Given the description of an element on the screen output the (x, y) to click on. 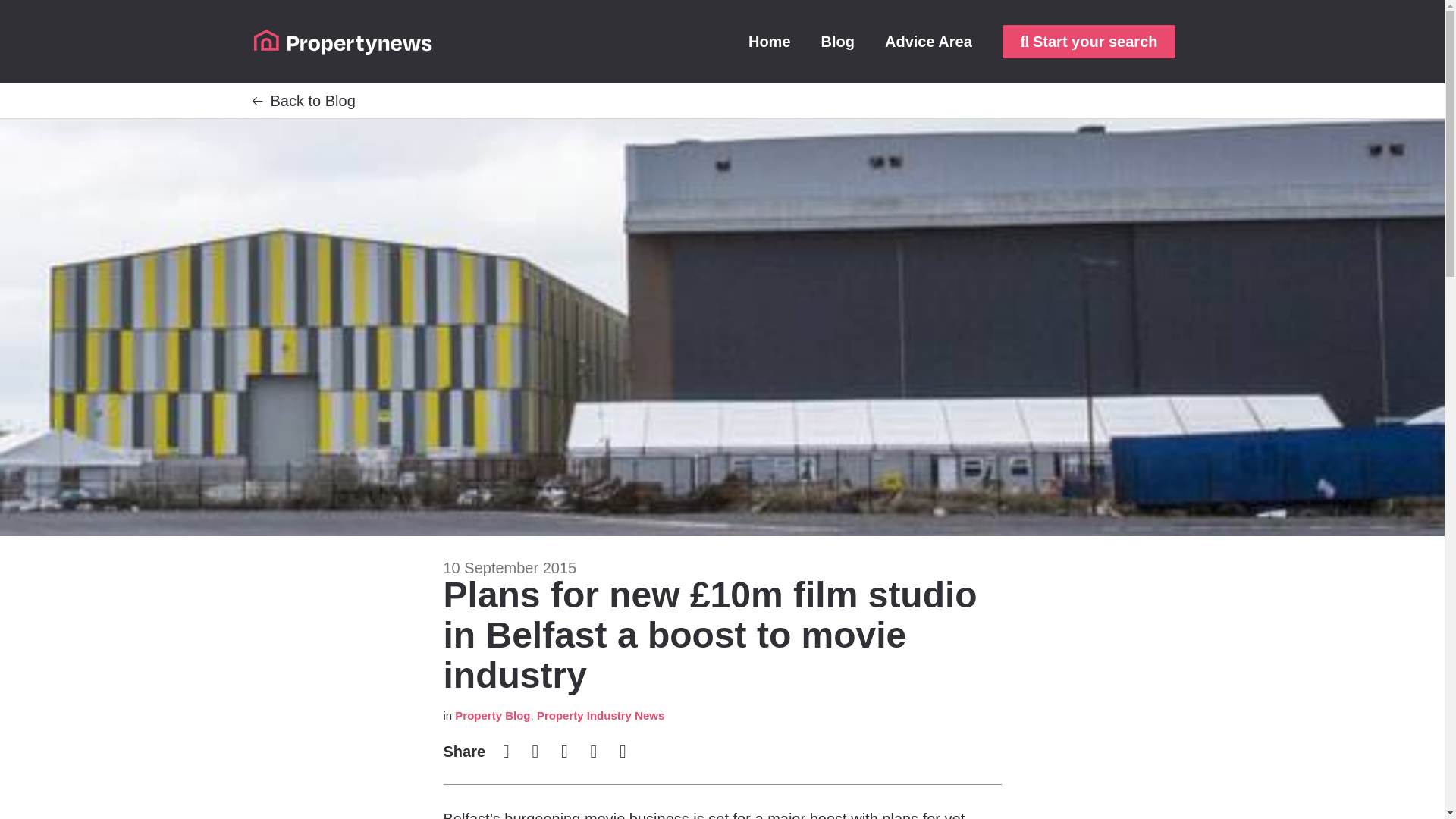
Back to Blog (312, 100)
Start your search (1089, 41)
Advice Area (928, 41)
Property Industry News (600, 715)
Home (769, 41)
Property Blog (491, 715)
Blog (837, 41)
